Given the description of an element on the screen output the (x, y) to click on. 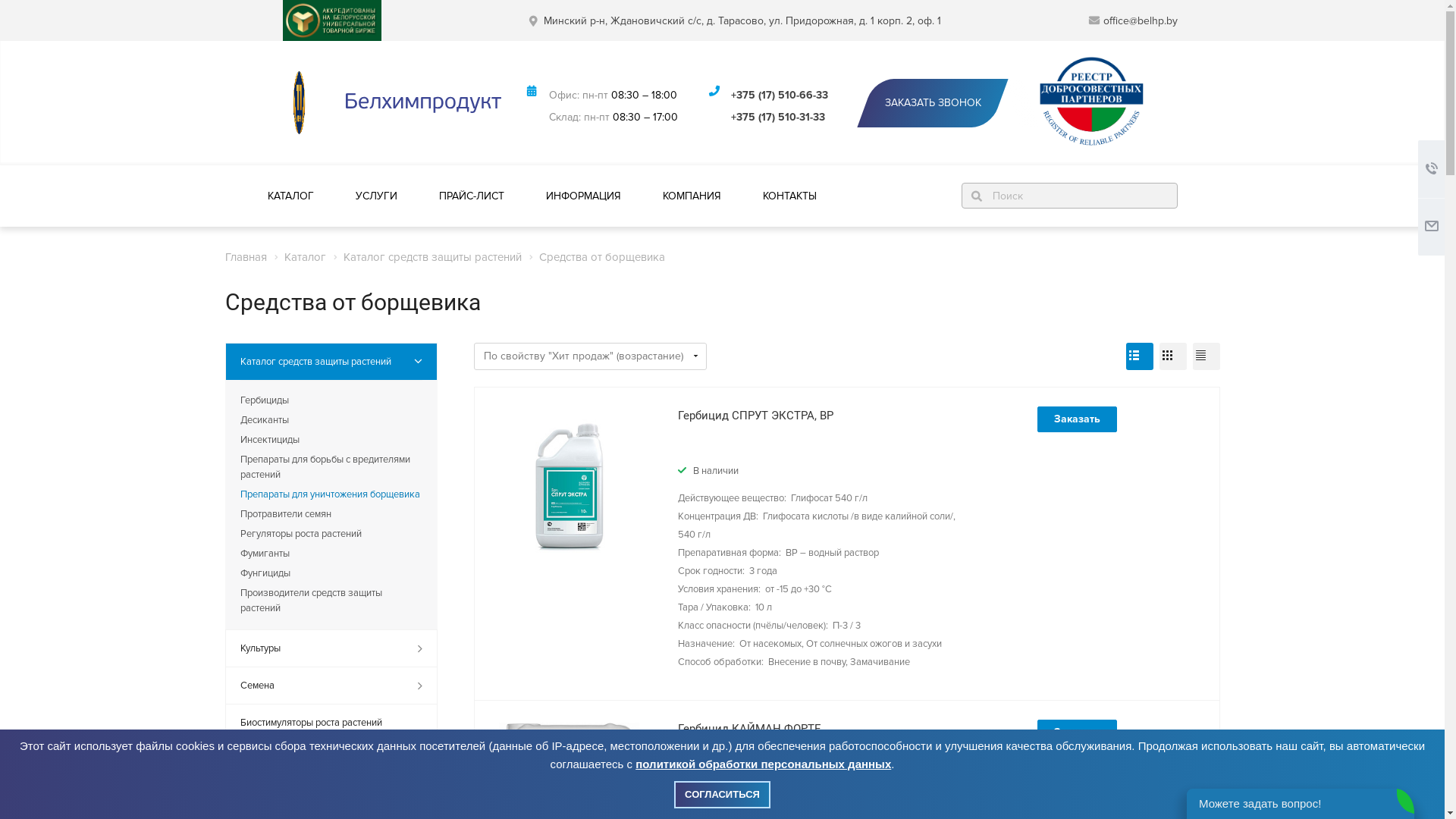
Y Element type: text (4, 4)
+375 (17) 510-31-33 Element type: text (778, 117)
office@belhp.by Element type: text (1139, 20)
+375 (17) 510-66-33 Element type: text (779, 95)
